Given the description of an element on the screen output the (x, y) to click on. 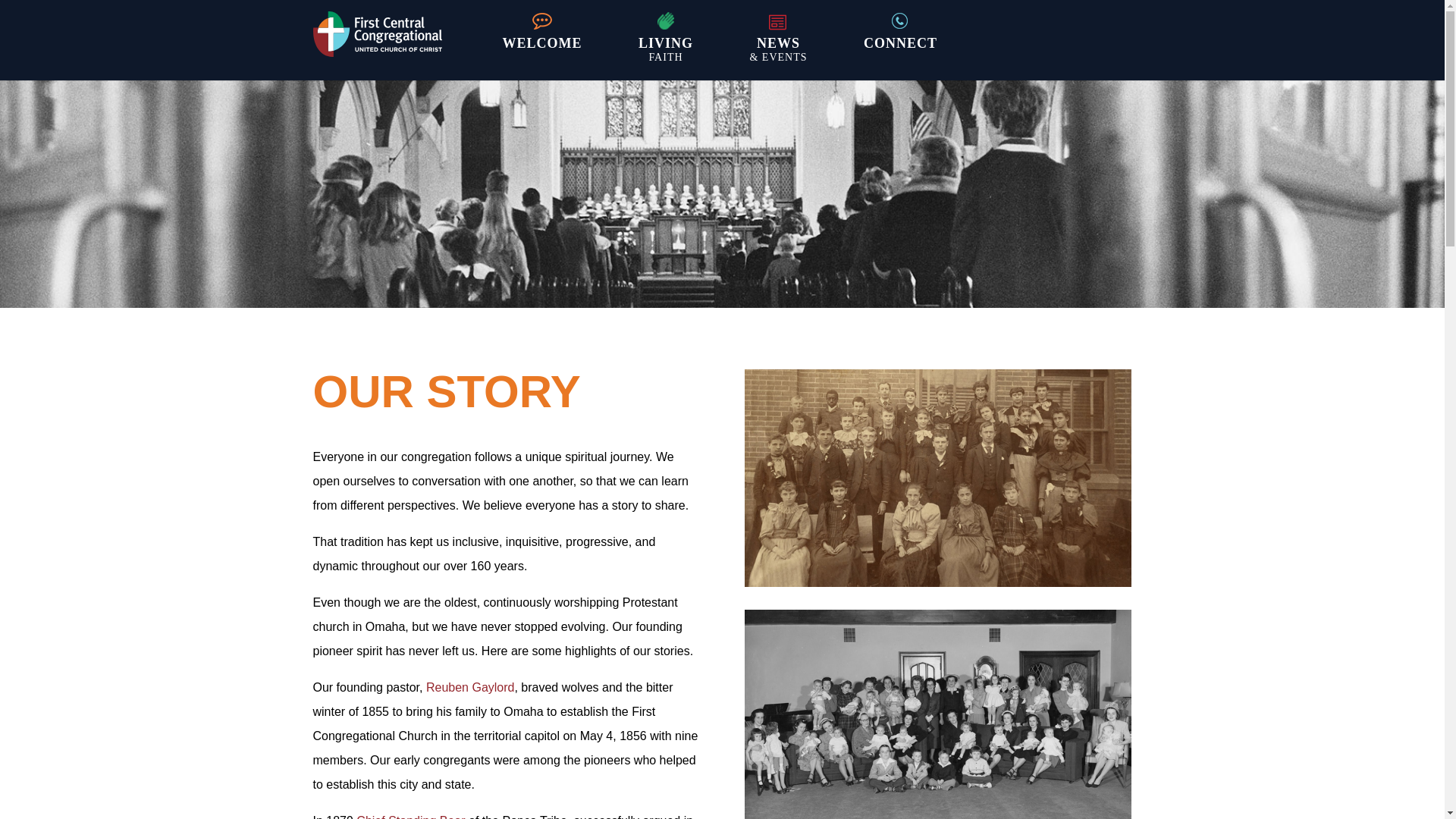
Chief Standing Bear (410, 816)
oldphoto (937, 478)
WELCOME   (542, 49)
CONNECT   (900, 49)
Reuben Gaylord (470, 686)
womenleadership (937, 714)
LIVING FAITH (665, 49)
